Given the description of an element on the screen output the (x, y) to click on. 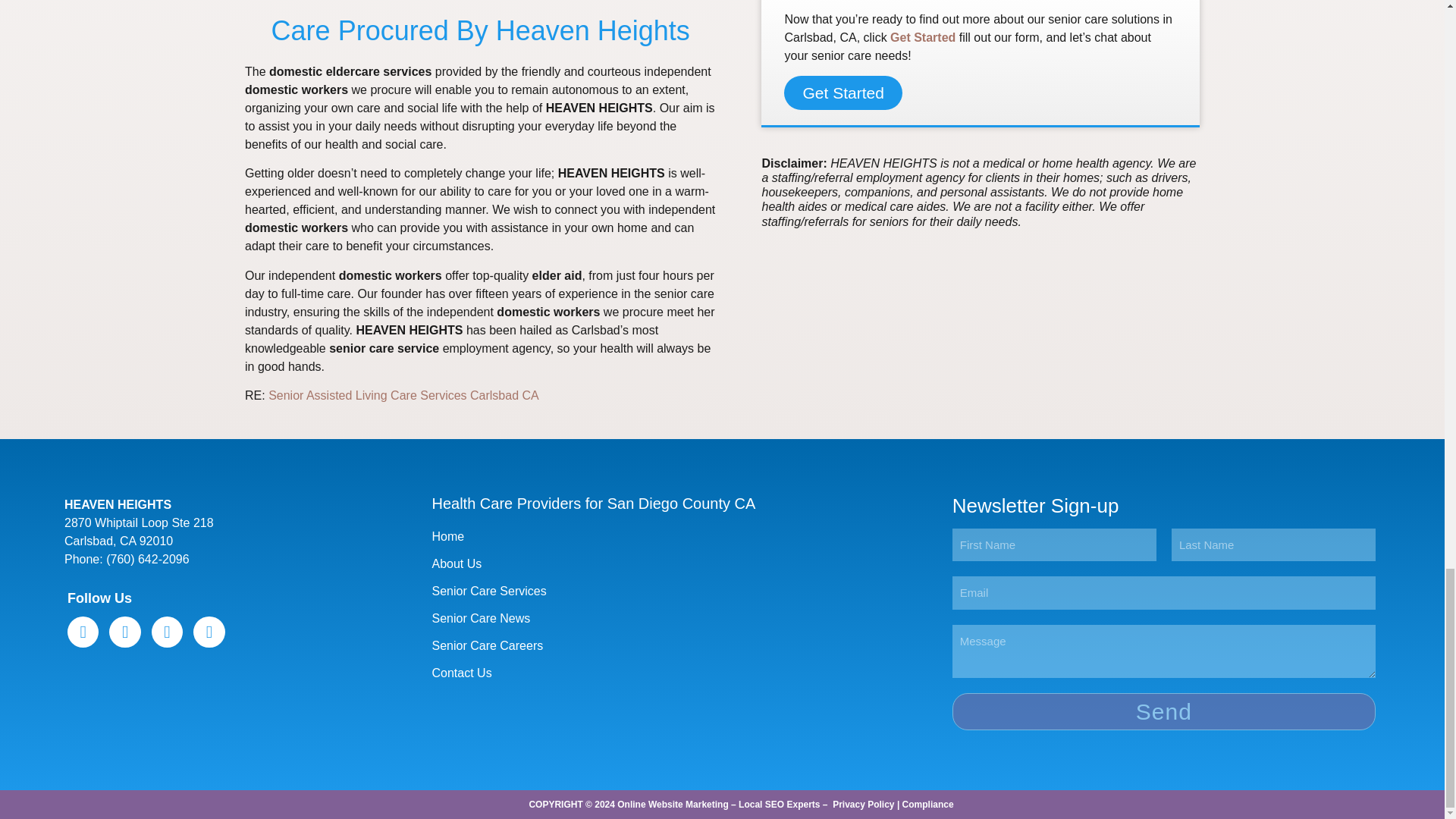
Compliance (927, 804)
Online Website Marketing - Local SEO Experts (718, 804)
Senior Assisted Living Care Services Carlsbad CA (402, 395)
Privacy Policy (862, 804)
Get Started (922, 37)
Get Started (842, 92)
